Given the description of an element on the screen output the (x, y) to click on. 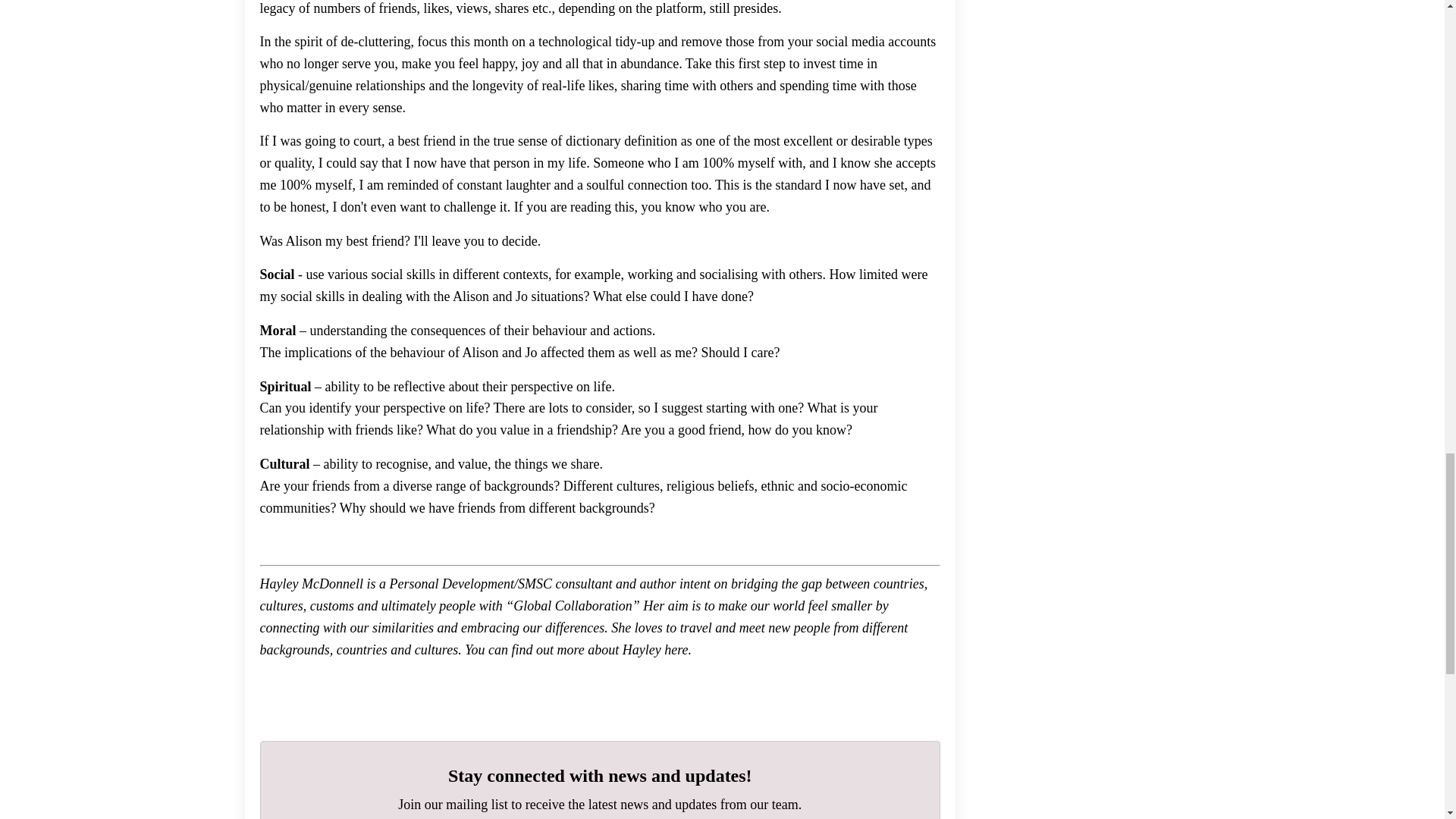
 here. (676, 649)
